Given the description of an element on the screen output the (x, y) to click on. 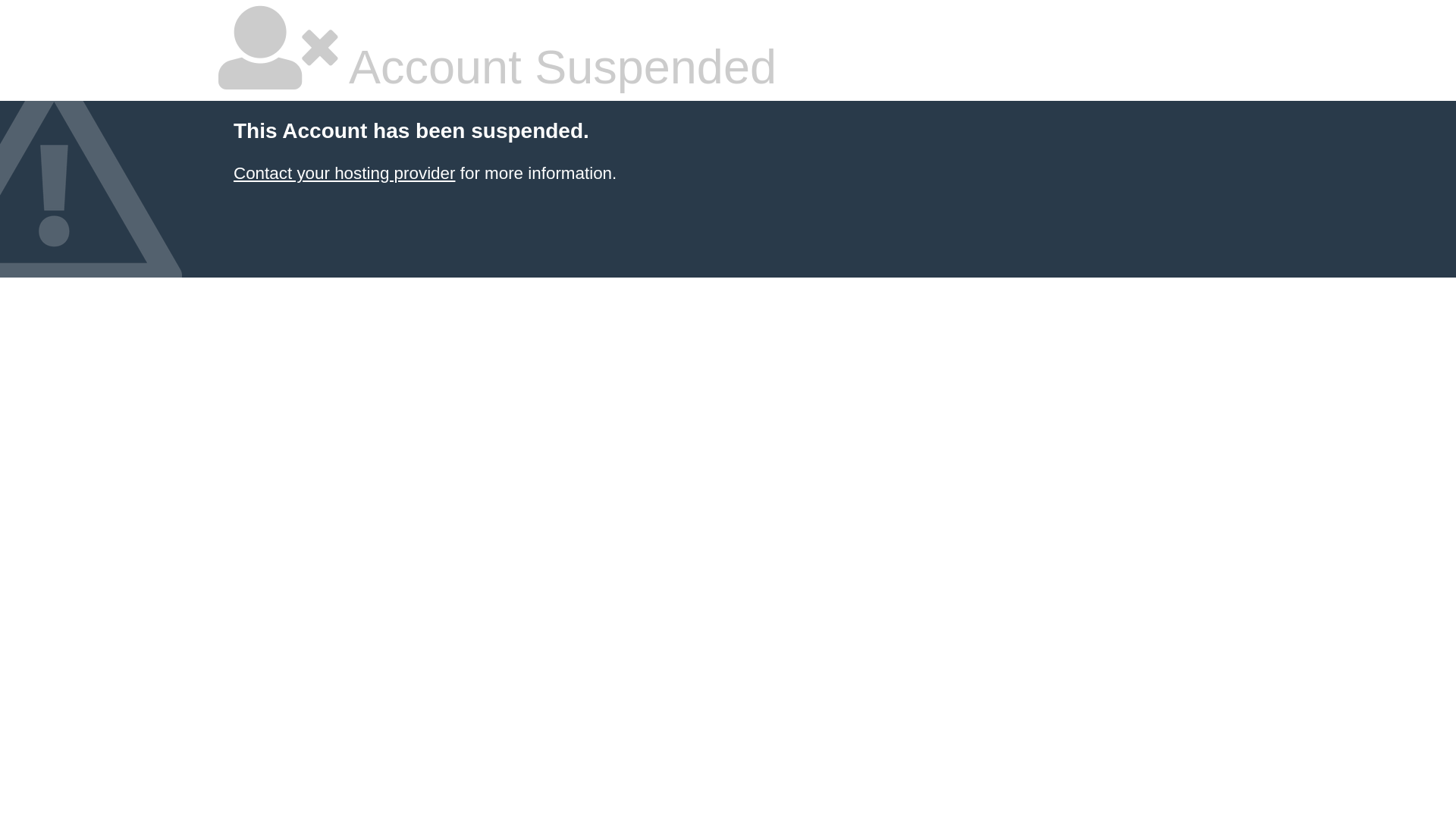
Contact your hosting provider Element type: text (344, 172)
